Given the description of an element on the screen output the (x, y) to click on. 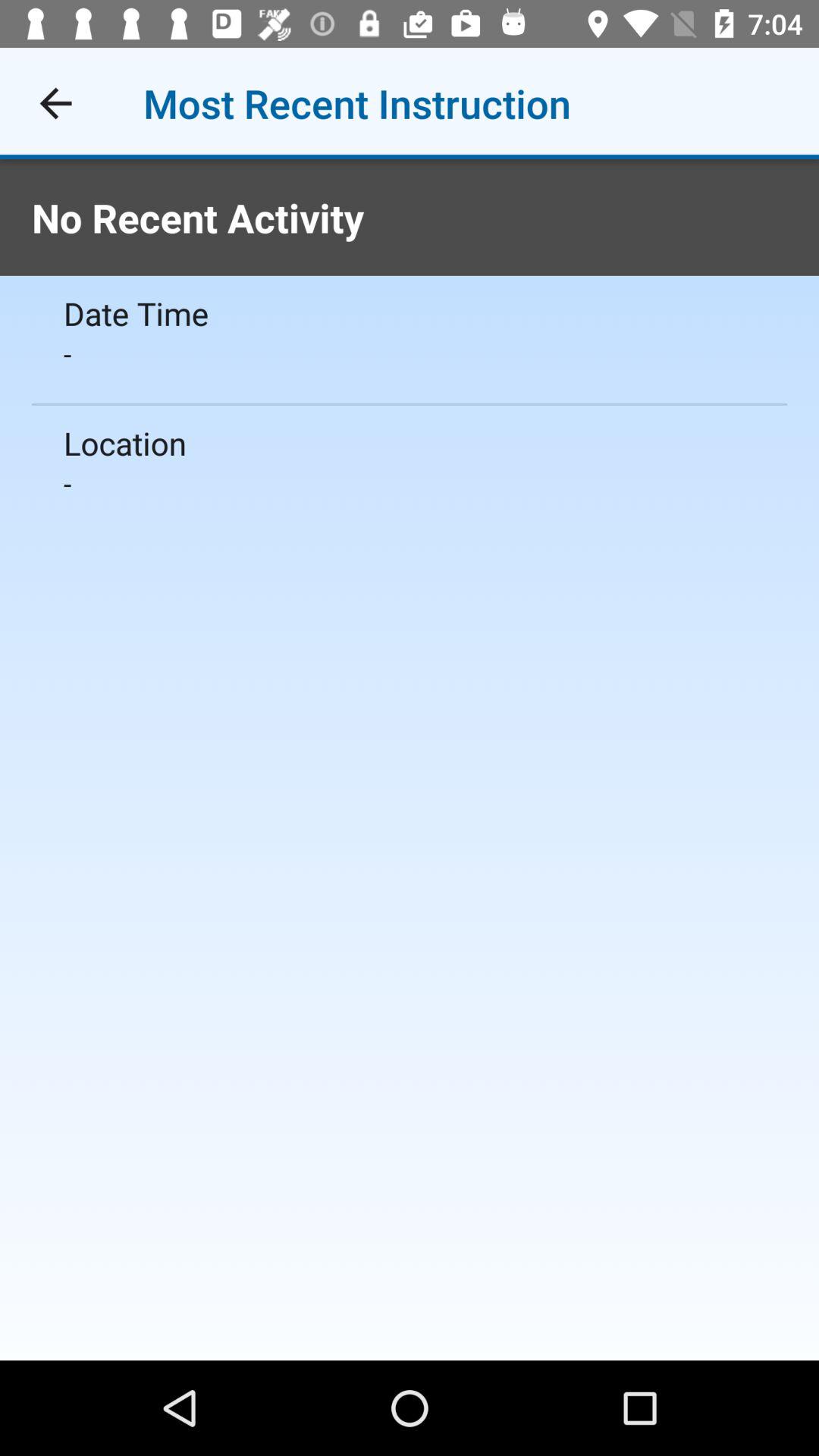
flip until the location item (409, 442)
